Given the description of an element on the screen output the (x, y) to click on. 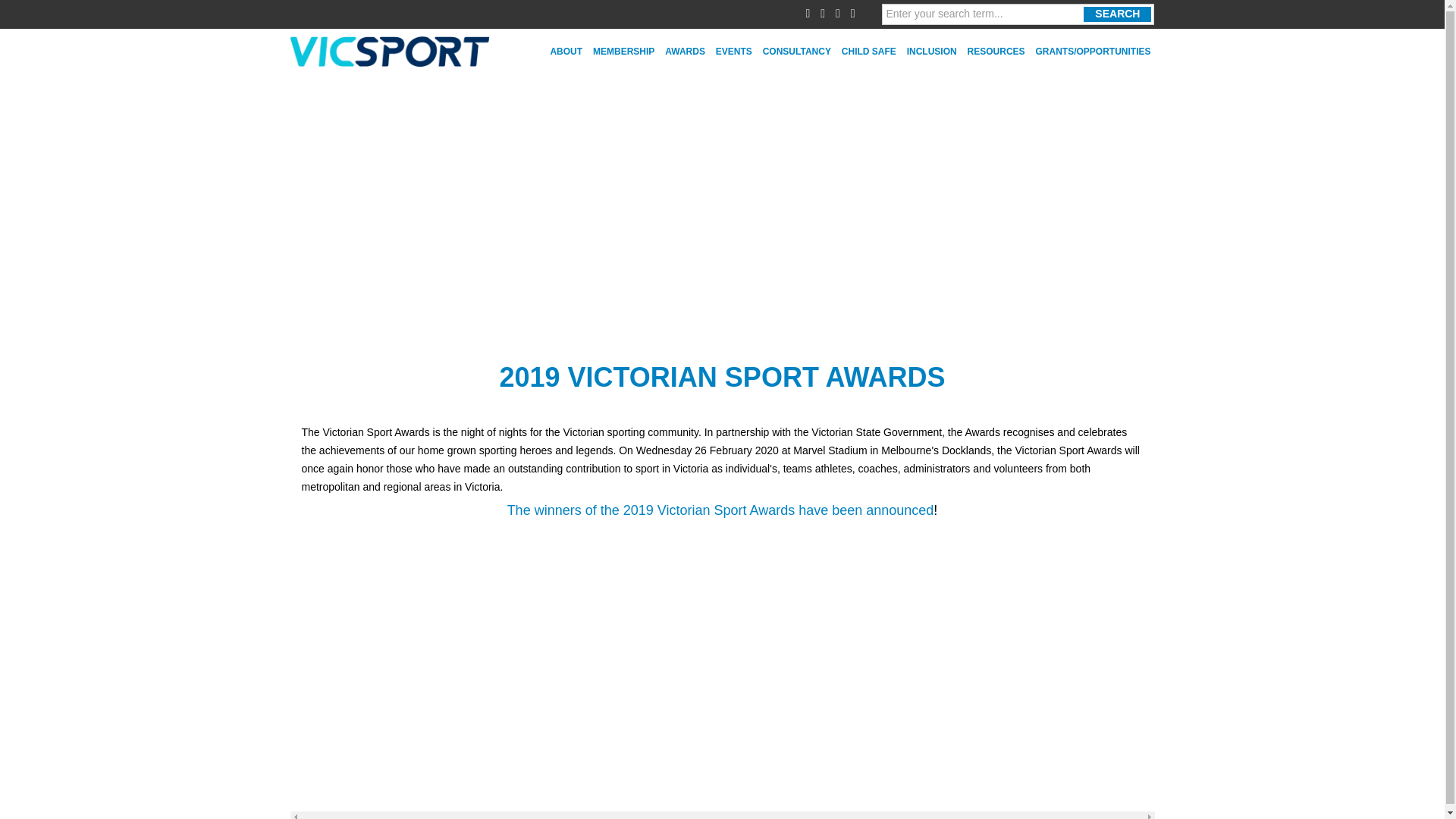
MEMBERSHIP (623, 51)
INCLUSION (931, 51)
Search (1117, 14)
RESOURCES (996, 51)
CONSULTANCY (796, 51)
CHILD SAFE (868, 51)
EVENTS (733, 51)
AWARDS (685, 51)
Search (1117, 14)
